Given the description of an element on the screen output the (x, y) to click on. 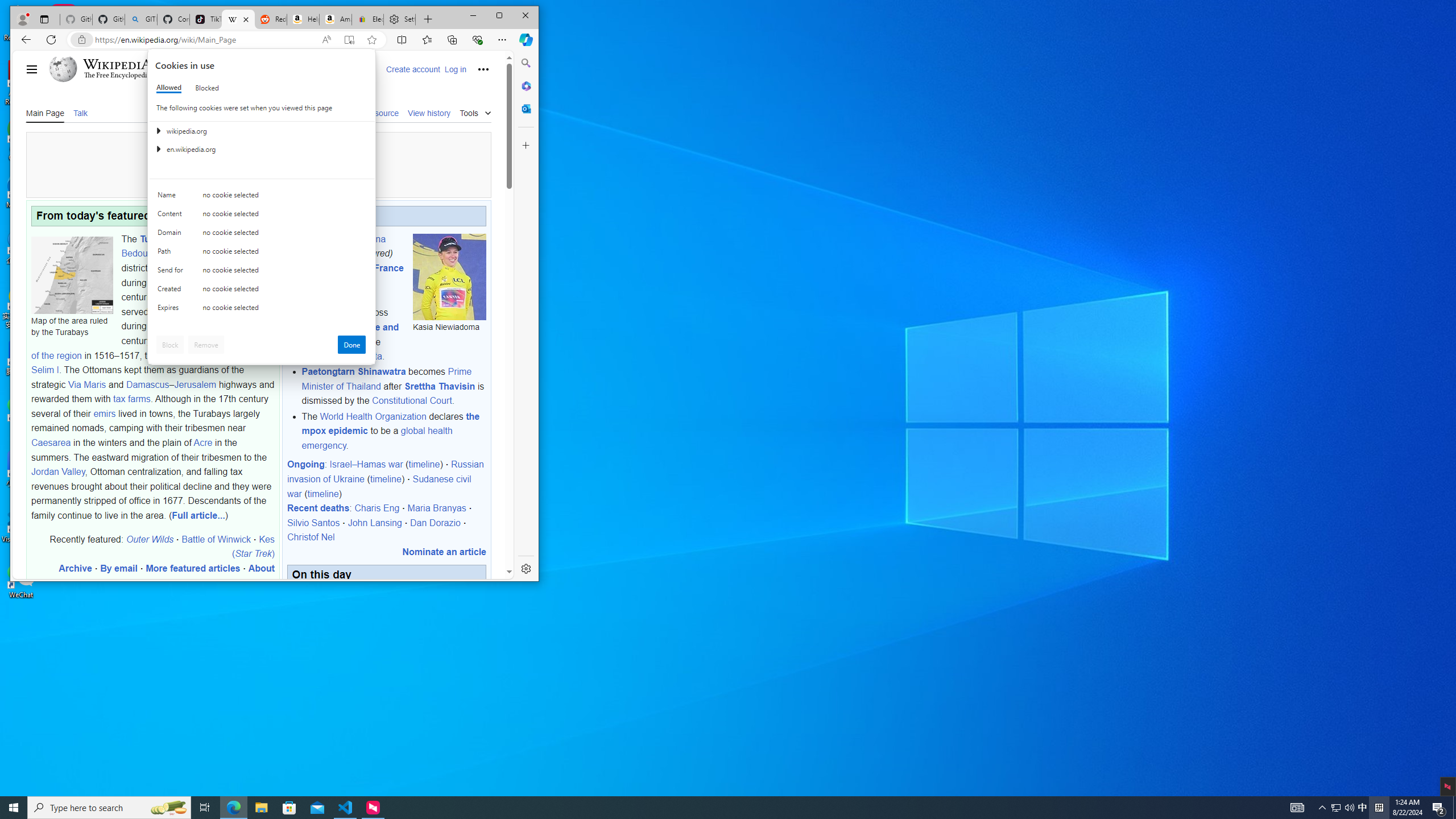
Q2790: 100% (1362, 807)
Running applications (1349, 807)
Content (707, 807)
Created (172, 216)
Search highlights icon opens search home window (172, 291)
Start (167, 807)
File Explorer (13, 807)
Type here to search (261, 807)
Action Center, 2 new notifications (108, 807)
Remove (1335, 807)
Blocked (1439, 807)
